Given the description of an element on the screen output the (x, y) to click on. 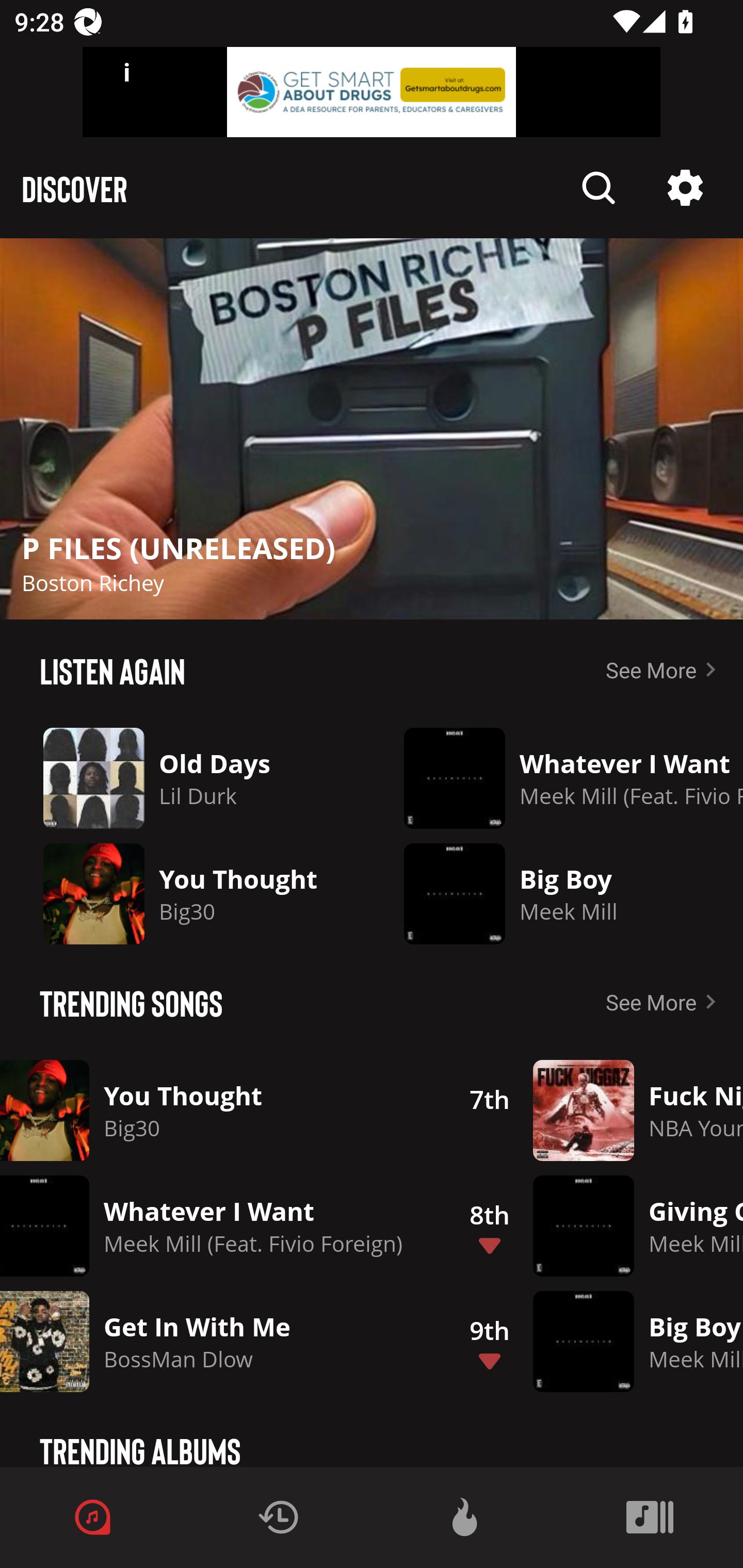
Description (598, 188)
Description (684, 188)
Description (371, 428)
See More (664, 669)
Description Old Days Lil Durk (187, 778)
Description You Thought Big30 (187, 893)
Description Big Boy Meek Mill (559, 893)
See More (664, 1001)
Description You Thought Big30 (215, 1110)
7th Description Fuck Niggaz NBA Youngboy (594, 1110)
Description Get In With Me BossMan Dlow (215, 1341)
9th Description Description Big Boy Meek Mill (594, 1341)
